Given the description of an element on the screen output the (x, y) to click on. 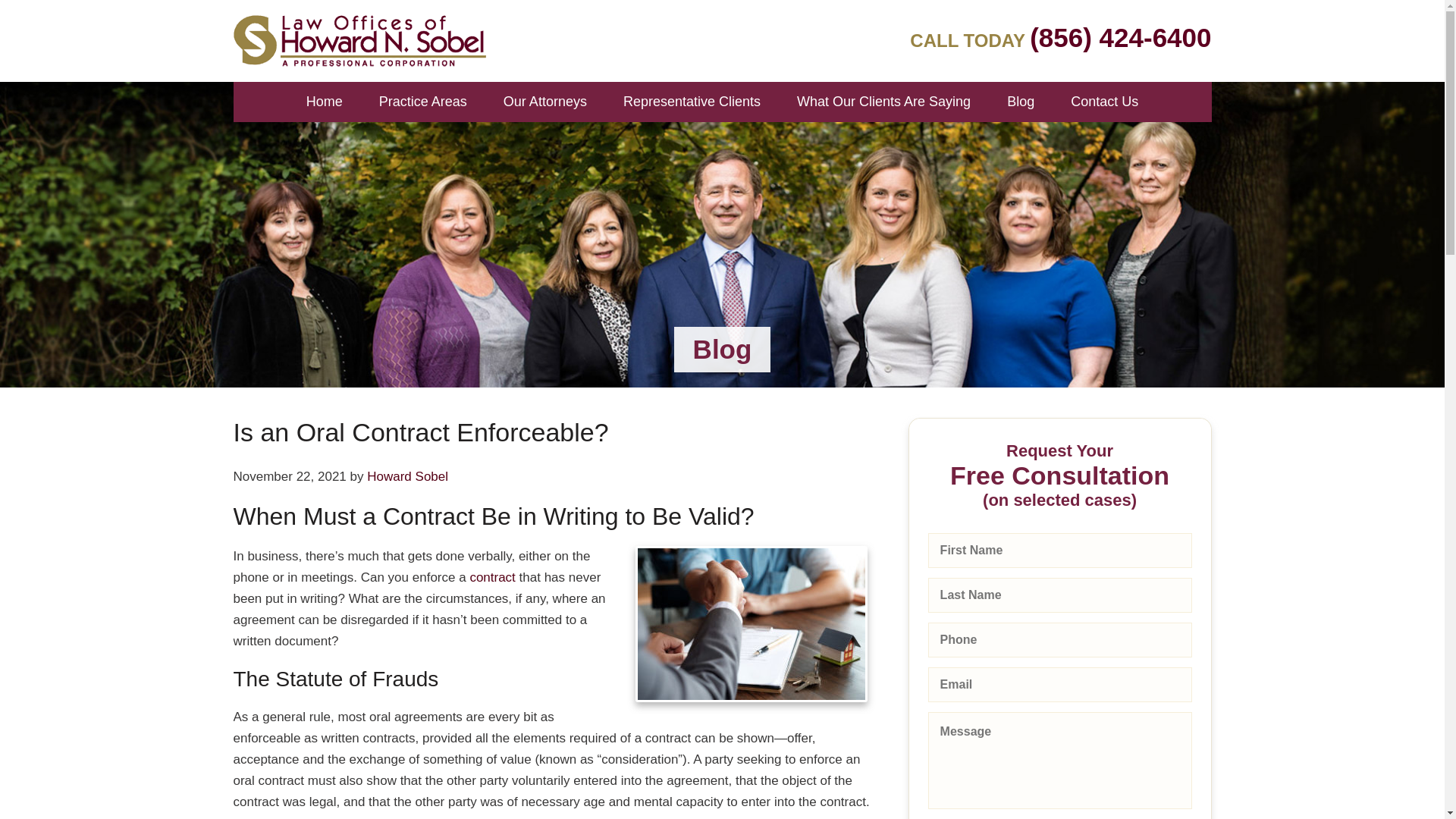
Home (323, 101)
Blog (1020, 101)
What Our Clients Are Saying (883, 101)
Practice Areas (422, 101)
Contact Us (1104, 101)
Howard Sobel (407, 476)
Our Attorneys (544, 101)
Representative Clients (691, 101)
contract (491, 577)
